Given the description of an element on the screen output the (x, y) to click on. 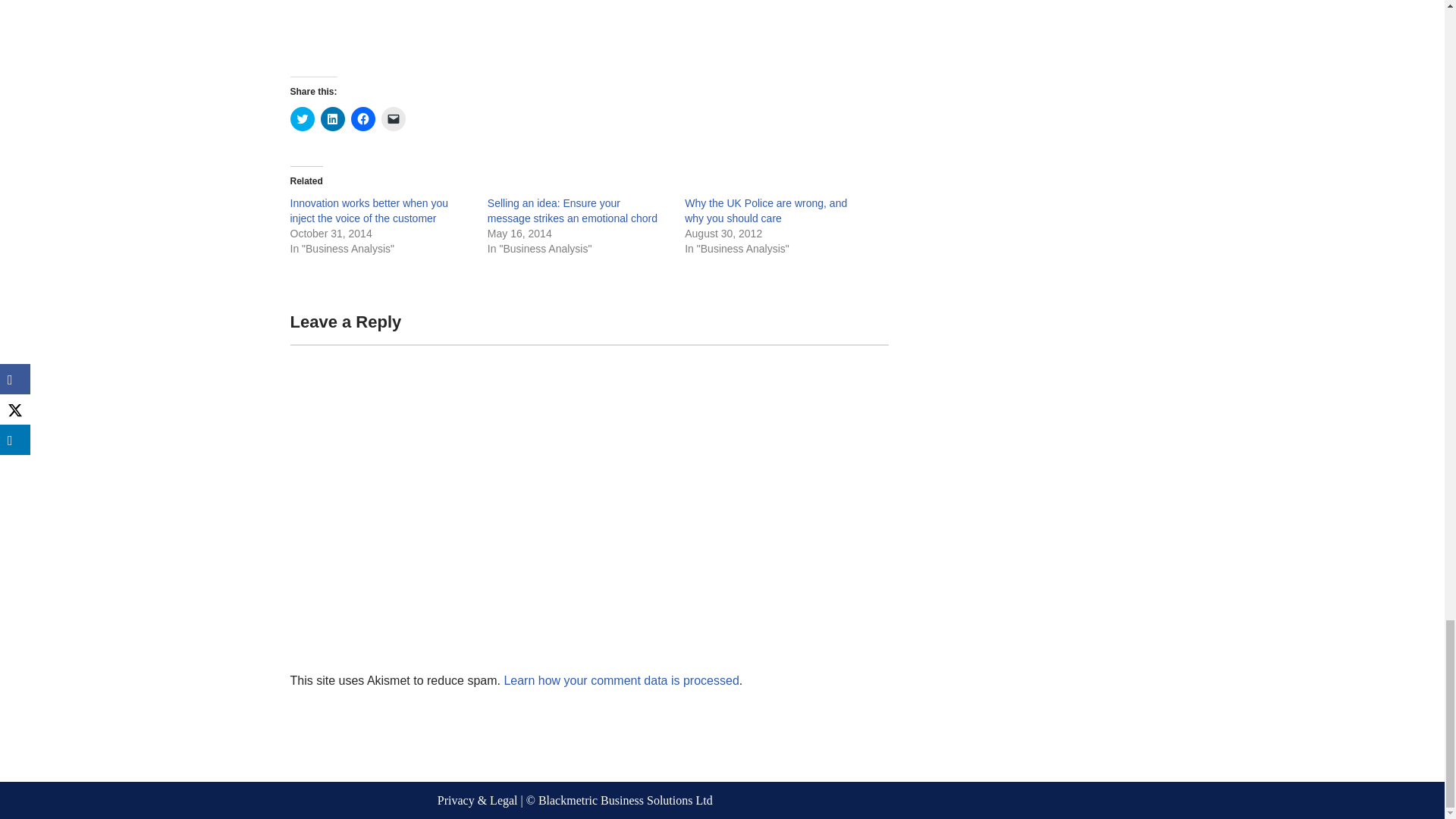
Click to share on LinkedIn (331, 119)
Why the UK Police are wrong, and why you should care (765, 210)
Click to email a link to a friend (392, 119)
Click to share on Twitter (301, 119)
Click to share on Facebook (362, 119)
